Given the description of an element on the screen output the (x, y) to click on. 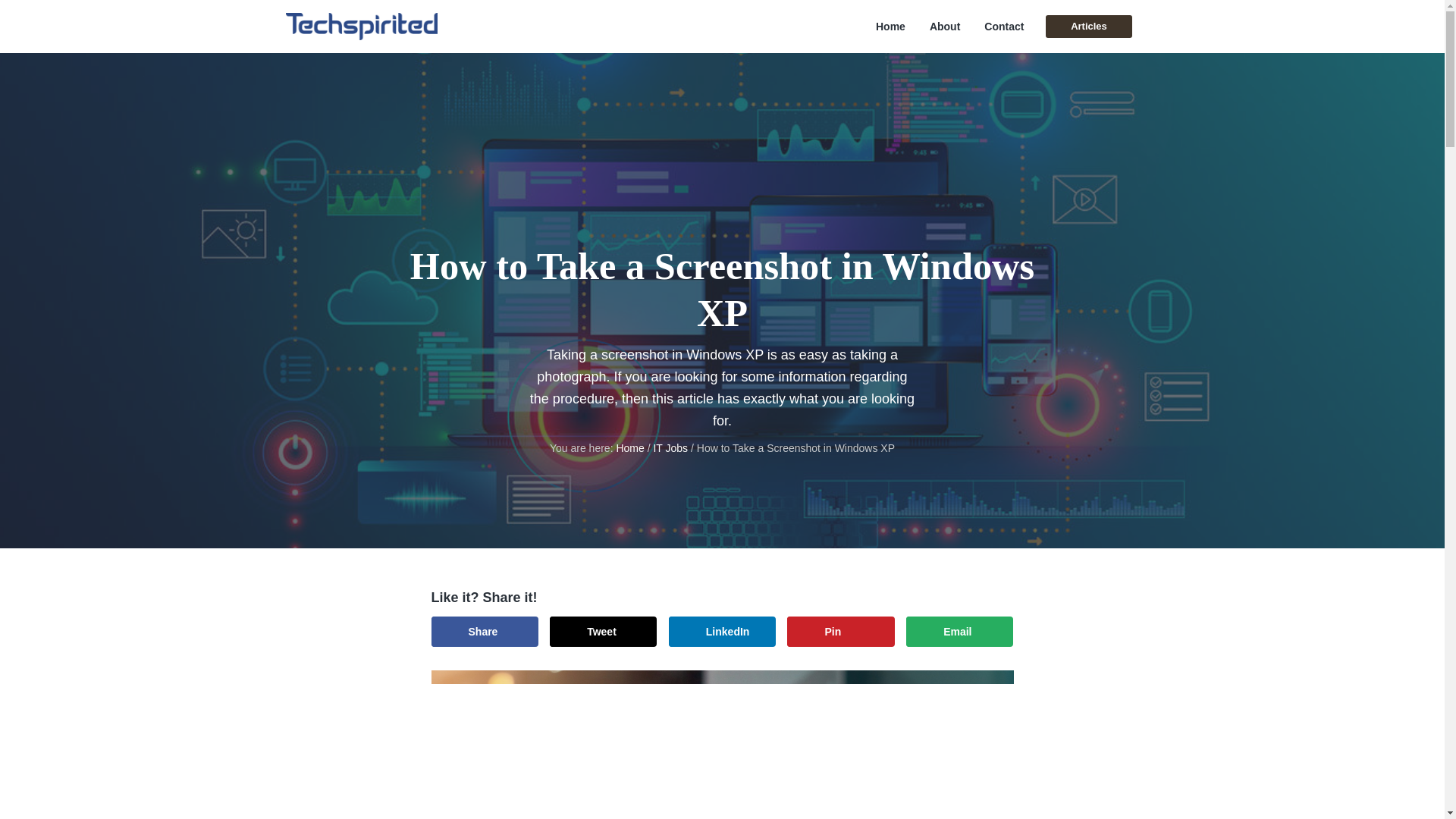
Share on Facebook (483, 631)
Share (483, 631)
Save to Pinterest (840, 631)
Home (629, 448)
Email (959, 631)
Share on X (603, 631)
Articles (1087, 25)
IT Jobs (669, 448)
Search (60, 18)
Pin (840, 631)
Home (890, 27)
Share on LinkedIn (722, 631)
Send over email (959, 631)
Tweet (603, 631)
